Given the description of an element on the screen output the (x, y) to click on. 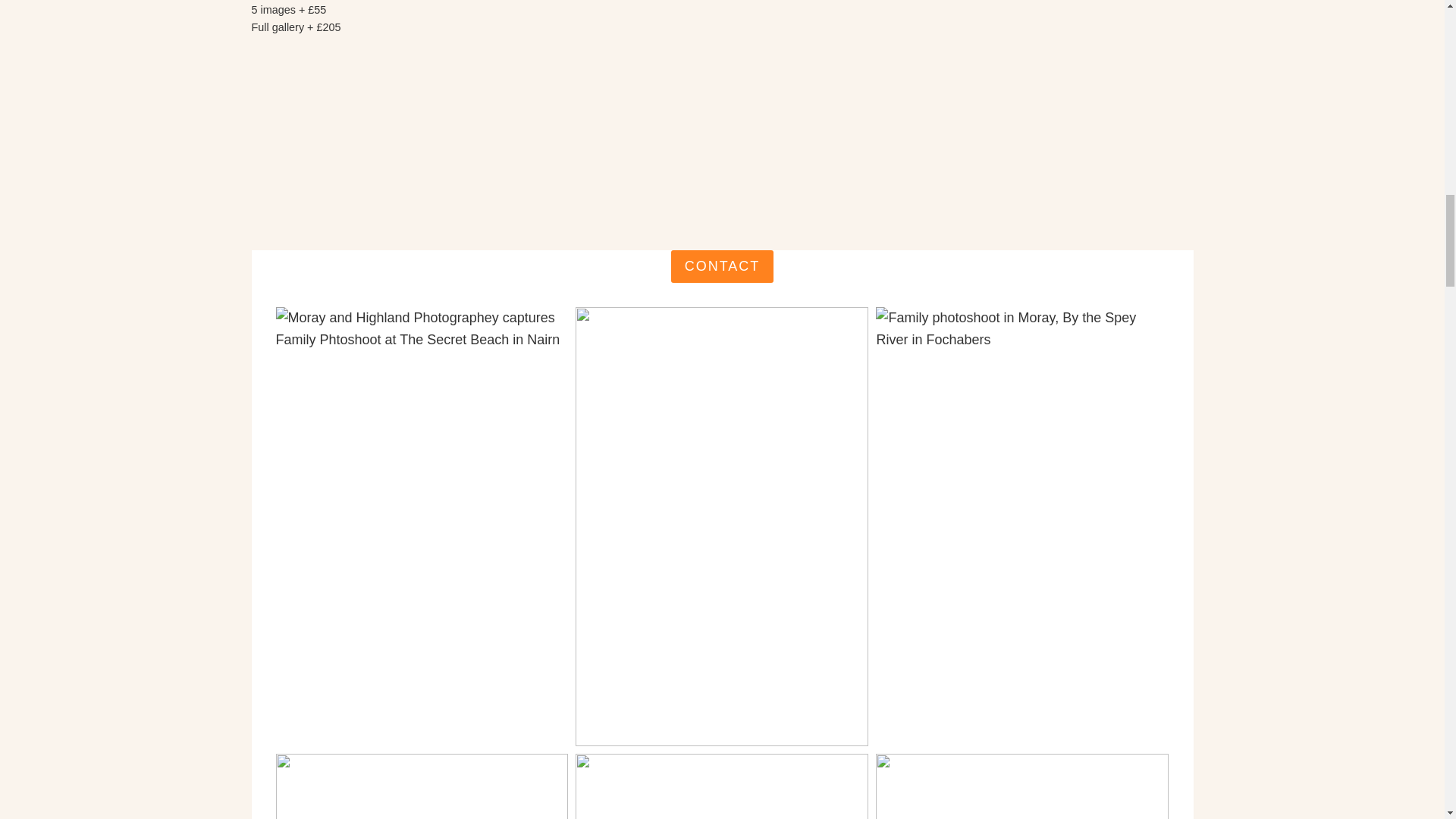
CONTACT (722, 266)
